Given the description of an element on the screen output the (x, y) to click on. 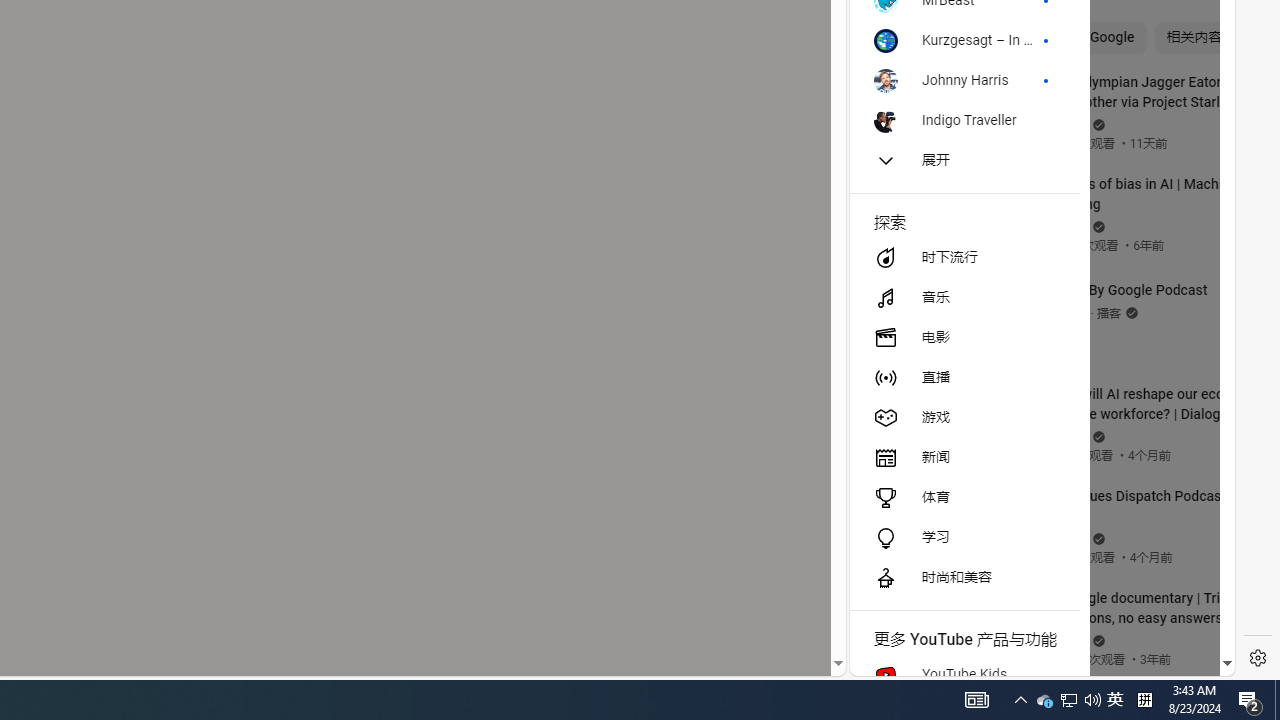
Global web icon (888, 432)
you (1034, 609)
YouTube Kids (963, 674)
Indigo Traveller (963, 120)
